Given the description of an element on the screen output the (x, y) to click on. 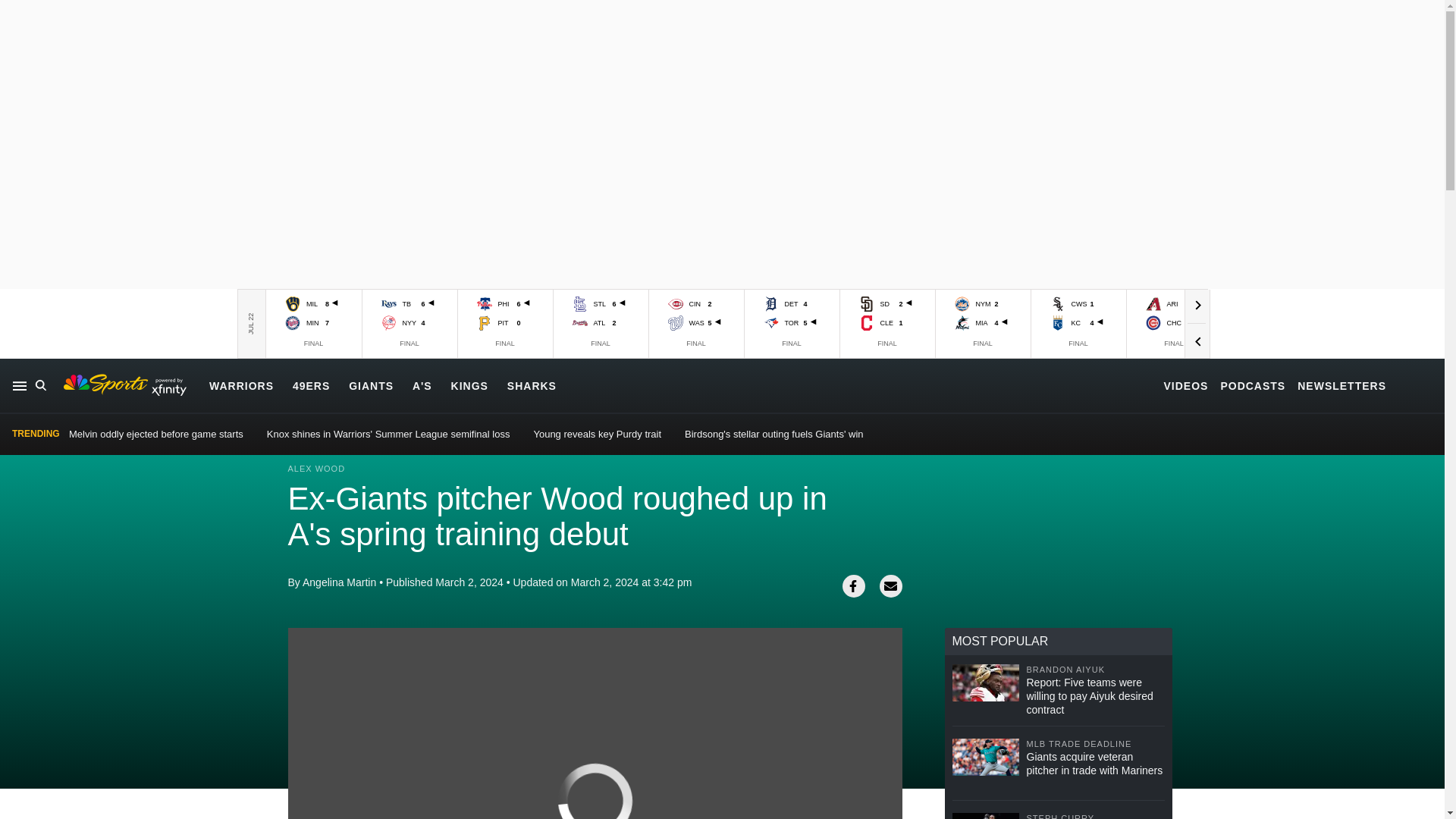
49ERS (311, 385)
PODCASTS (1252, 385)
A'S (422, 385)
KINGS (469, 385)
SHARKS (531, 385)
Knox shines in Warriors' Summer League semifinal loss (388, 433)
Melvin oddly ejected before game starts (155, 433)
Young reveals key Purdy trait (596, 433)
WARRIORS (241, 385)
ALEX WOOD (317, 469)
Angelina Martin (338, 582)
VIDEOS (1185, 385)
NEWSLETTERS (1341, 385)
Birdsong's stellar outing fuels Giants' win (773, 433)
GIANTS (371, 385)
